Given the description of an element on the screen output the (x, y) to click on. 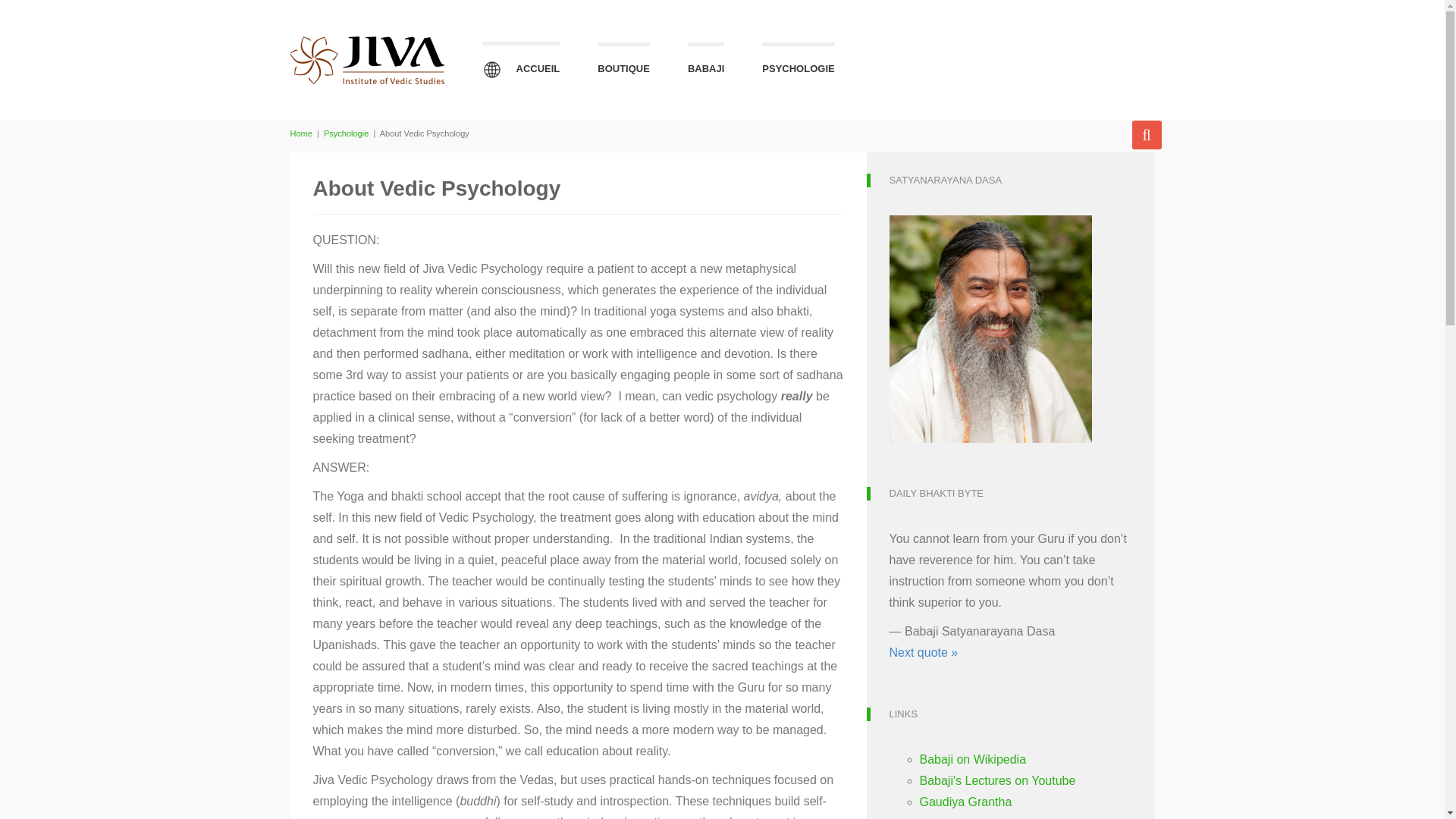
Jiva Institute of Vaishnava Studies (300, 133)
BOUTIQUE (622, 63)
Jiva Institute of Vaishnava Studies (366, 43)
PSYCHOLOGIE (797, 63)
ACCUEIL (520, 63)
Psychologie (345, 133)
Satyanarayana Dasa (989, 327)
